Given the description of an element on the screen output the (x, y) to click on. 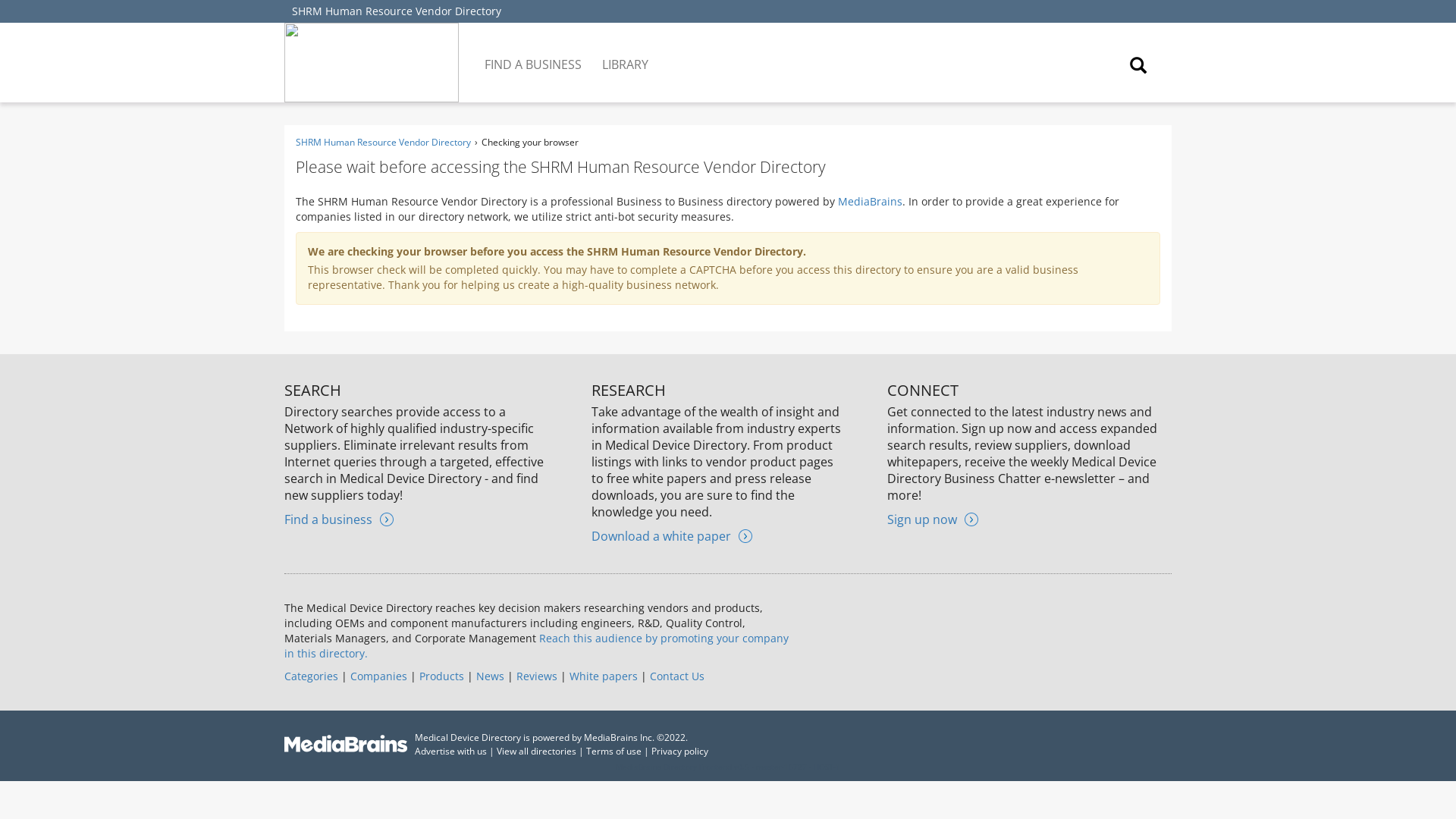
MediaBrains (870, 201)
View all directories (536, 750)
Find a business (338, 519)
Products (441, 676)
Terms of use (614, 750)
Contact Us (676, 676)
News (489, 676)
Companies (378, 676)
Download a white paper (671, 535)
LIBRARY (626, 52)
White papers (603, 676)
SHRM Human Resource Vendor Directory (382, 141)
Privacy policy (678, 750)
FIND A BUSINESS (534, 52)
